Given the description of an element on the screen output the (x, y) to click on. 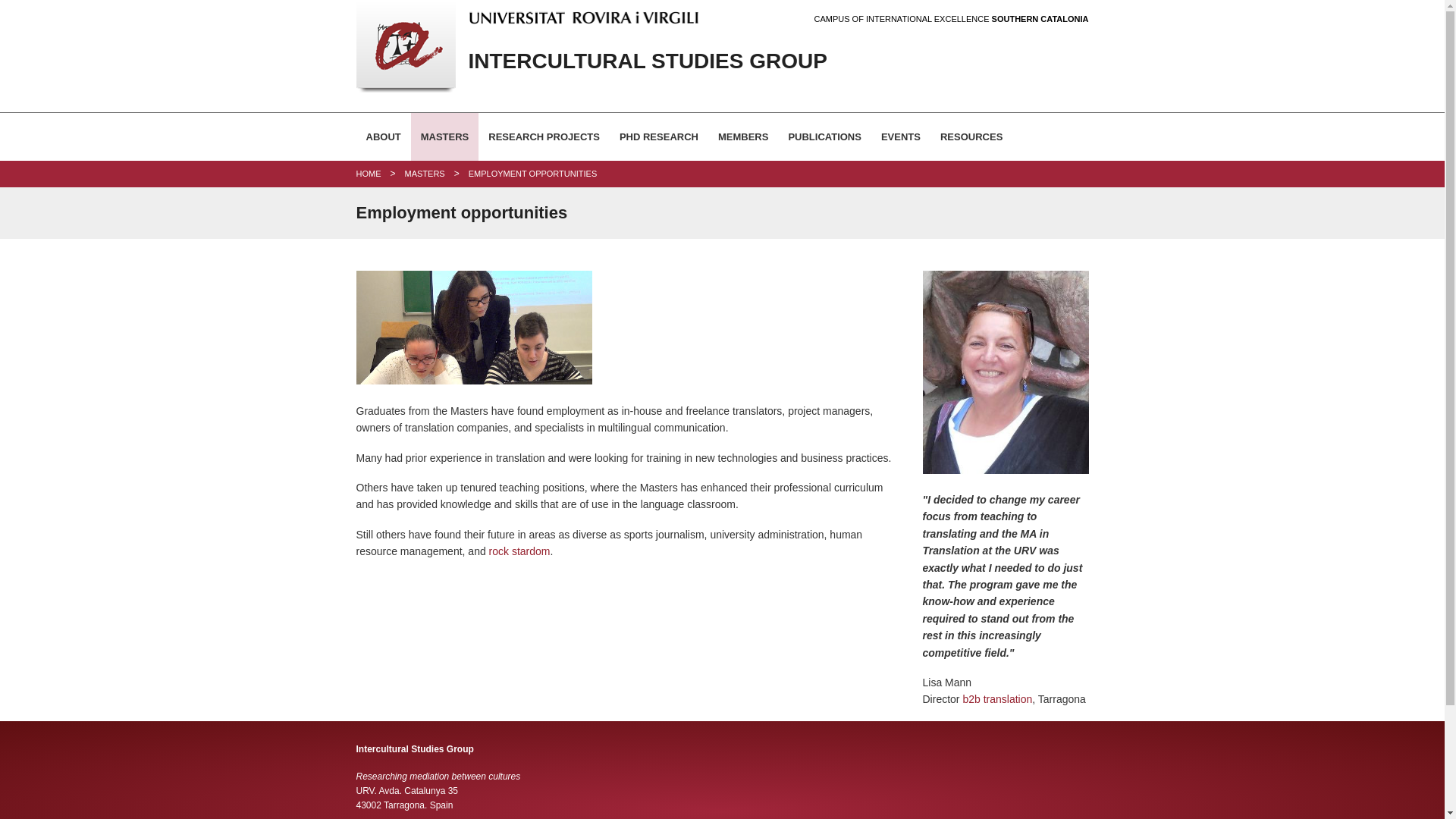
Masters (424, 173)
MASTERS (444, 136)
RESEARCH PROJECTS (544, 136)
PHD RESEARCH (658, 136)
INTERCULTURAL STUDIES GROUP (627, 61)
Home (368, 173)
ABOUT (383, 136)
CAMPUS OF INTERNATIONAL EXCELLENCE SOUTHERN CATALONIA (950, 19)
